Given the description of an element on the screen output the (x, y) to click on. 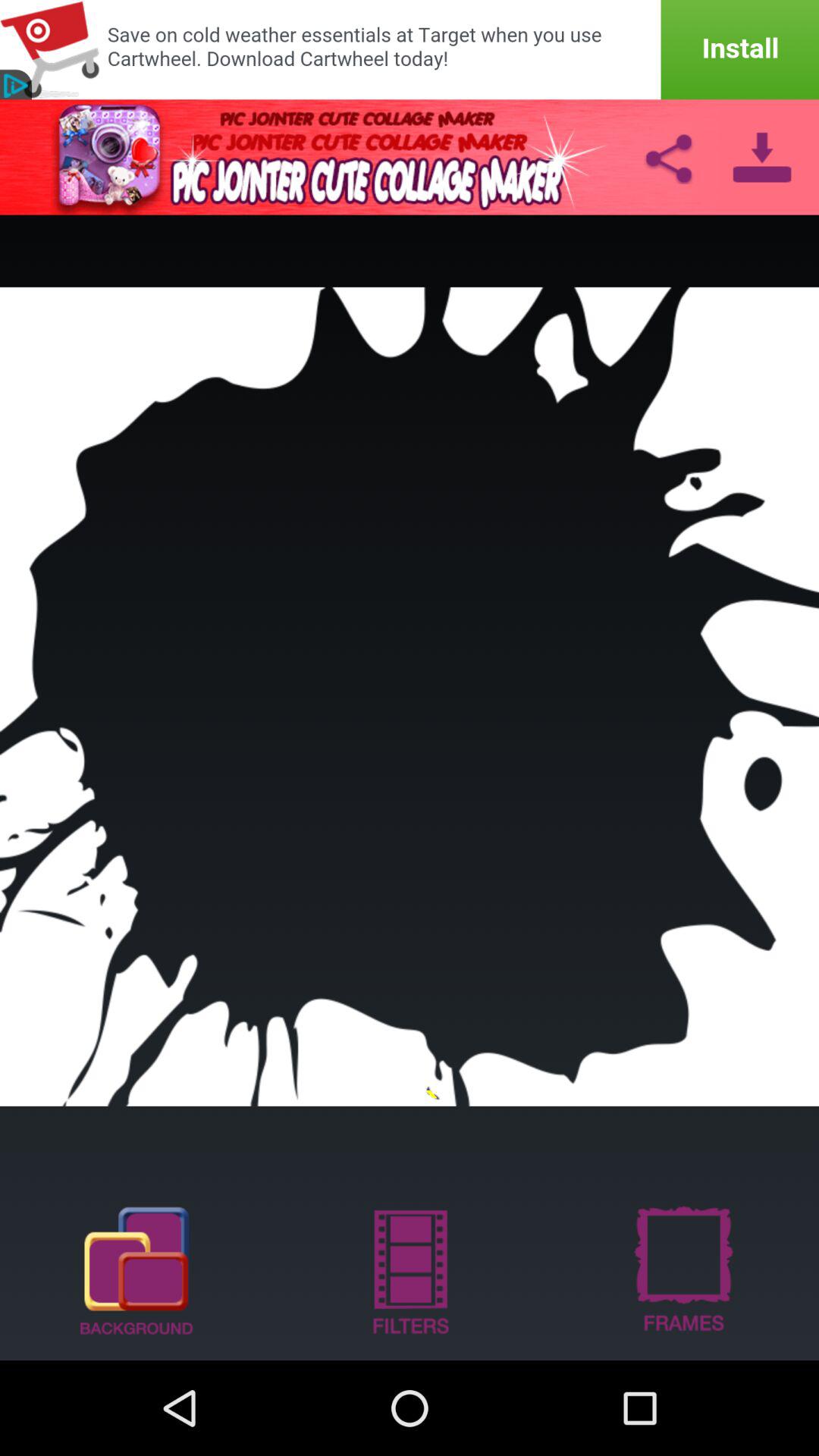
download the article (762, 156)
